Given the description of an element on the screen output the (x, y) to click on. 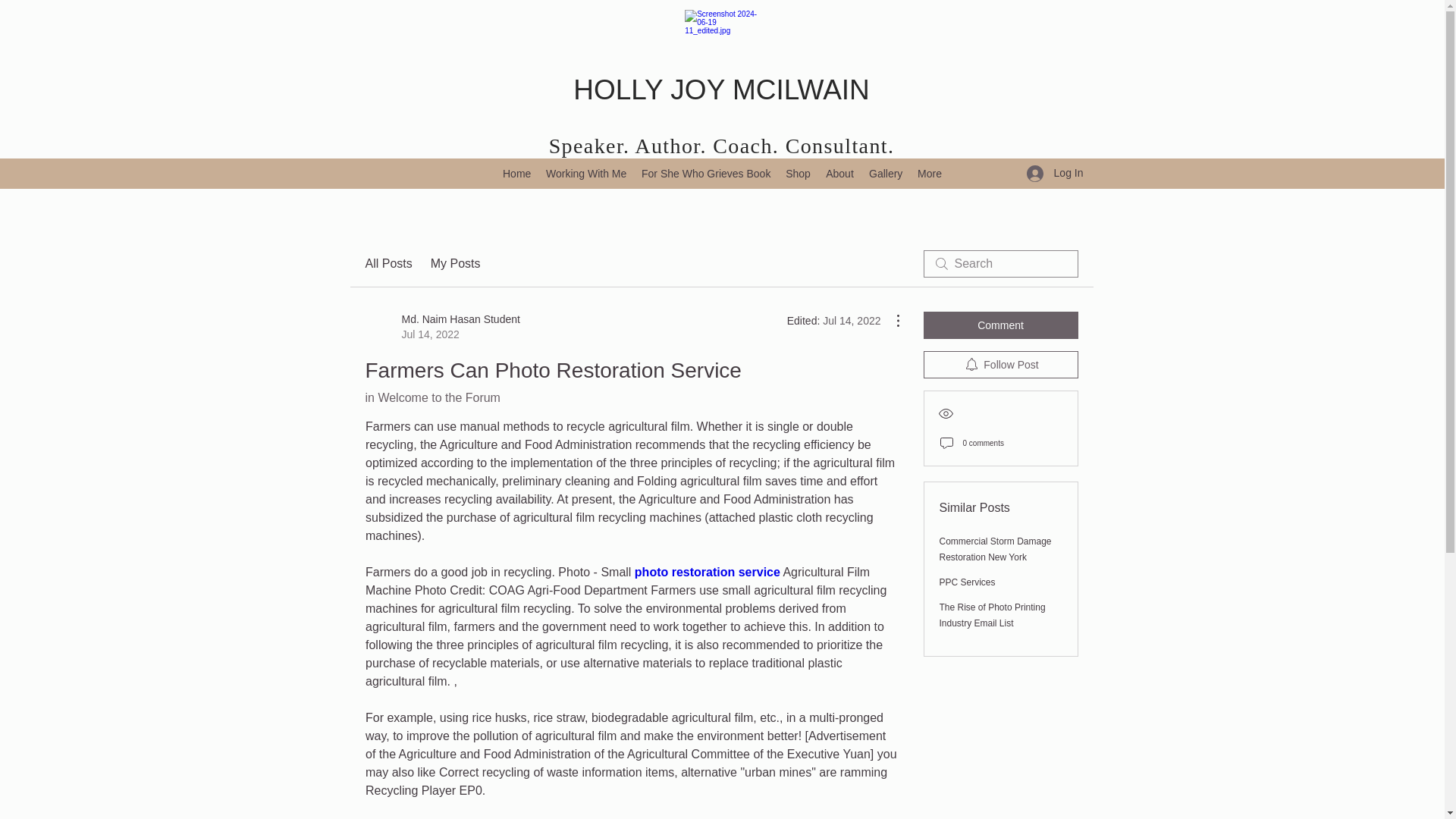
Working With Me (585, 173)
Home (516, 173)
Follow Post (1000, 364)
The Rise of Photo Printing Industry Email List (992, 614)
PPC Services (966, 582)
About (839, 173)
Shop (797, 173)
in Welcome to the Forum (432, 397)
Gallery (885, 173)
For She Who Grieves Book (705, 173)
My Posts (455, 263)
Commercial Storm Damage Restoration New York (995, 549)
Comment (1000, 325)
All Posts (388, 263)
